Given the description of an element on the screen output the (x, y) to click on. 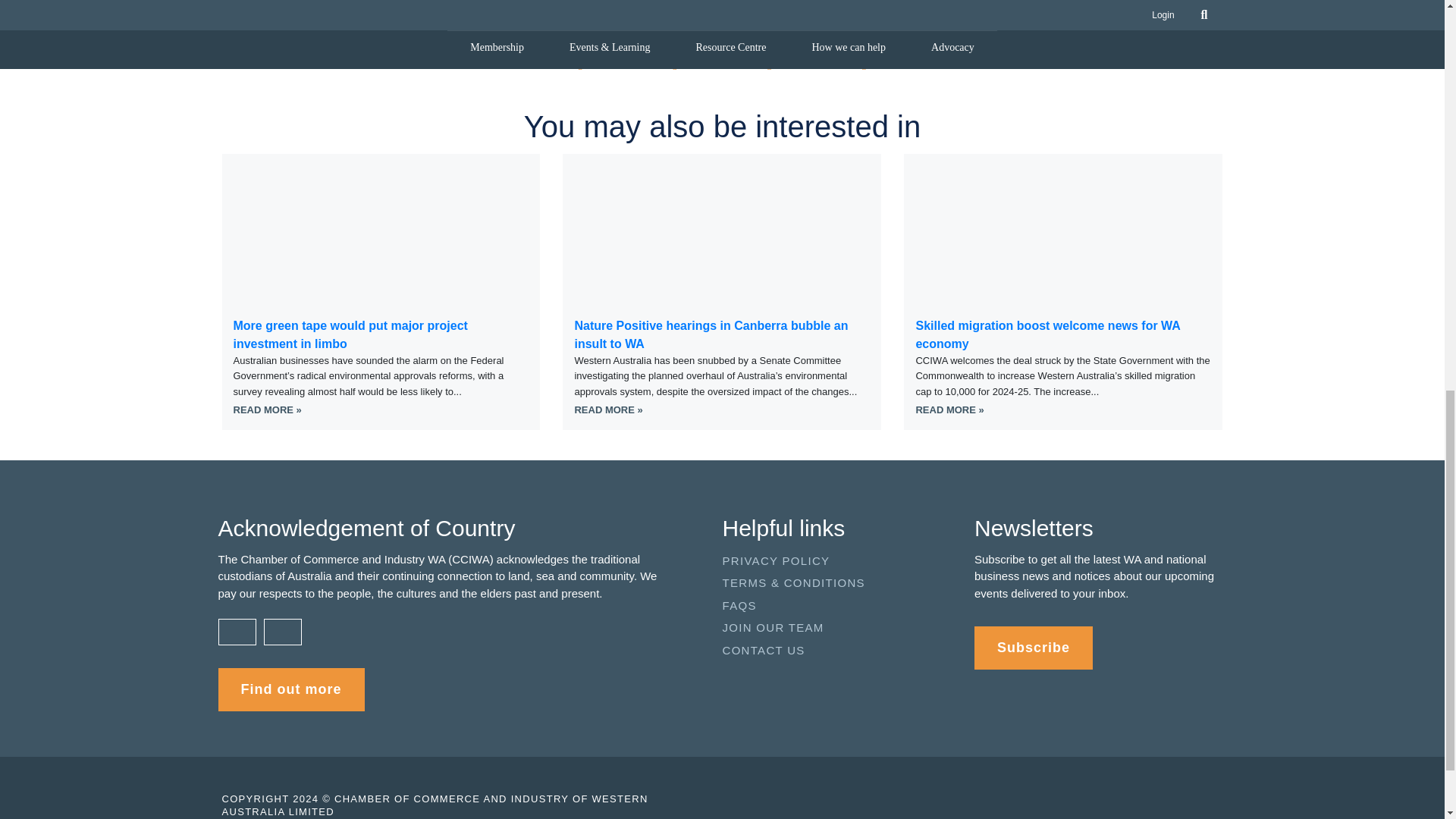
LinkedIn (769, 65)
Twitter (580, 65)
Facebook (674, 65)
Email (863, 65)
